Given the description of an element on the screen output the (x, y) to click on. 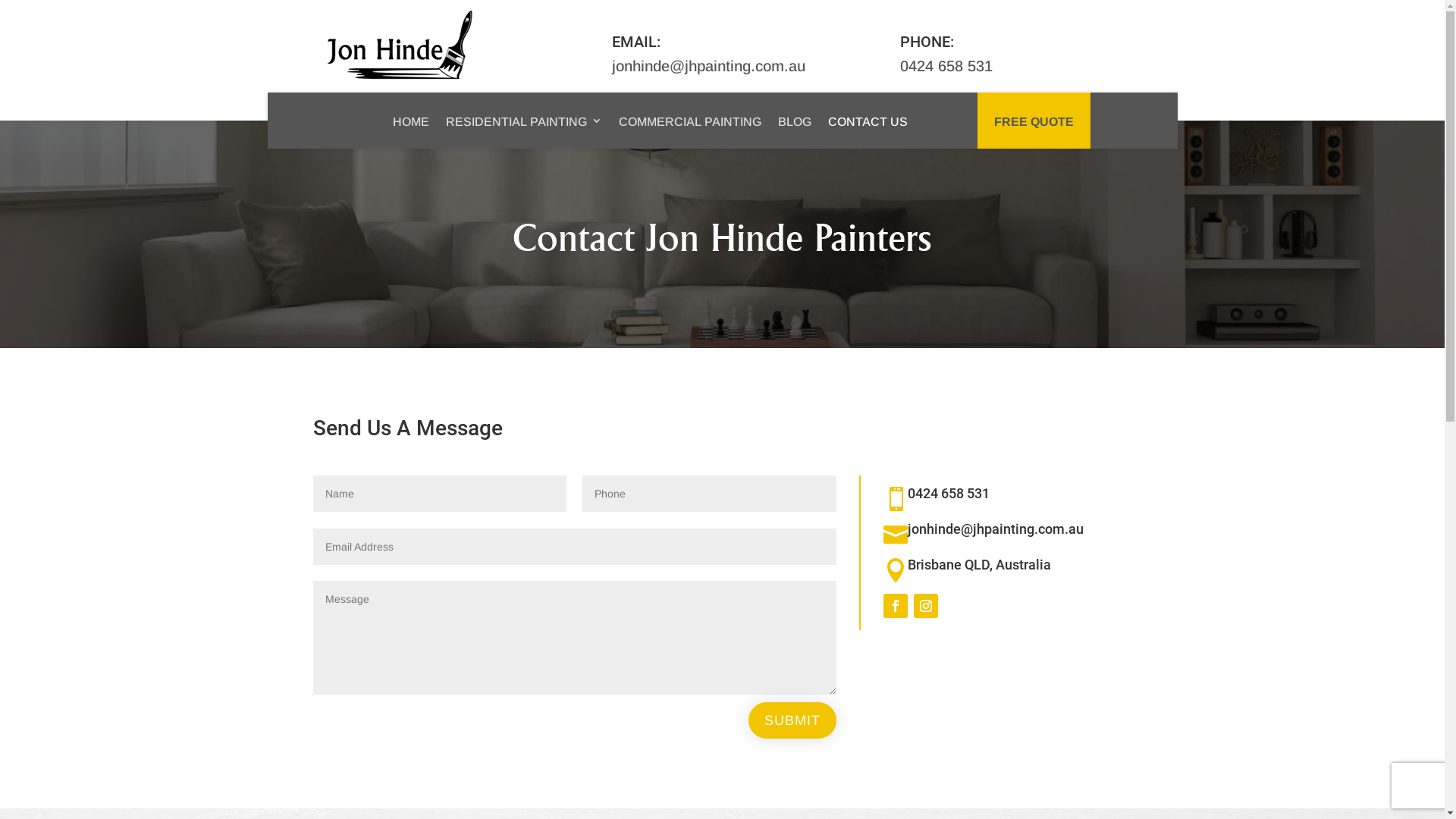
HOME Element type: text (410, 120)
RESIDENTIAL PAINTING Element type: text (523, 120)
FREE QUOTE Element type: text (1032, 120)
Follow on Instagram Element type: hover (925, 605)
Follow on Facebook Element type: hover (894, 605)
CONTACT US Element type: text (867, 120)
BLOG Element type: text (794, 120)
SUBMIT Element type: text (791, 719)
COMMERCIAL PAINTING Element type: text (689, 120)
